Given the description of an element on the screen output the (x, y) to click on. 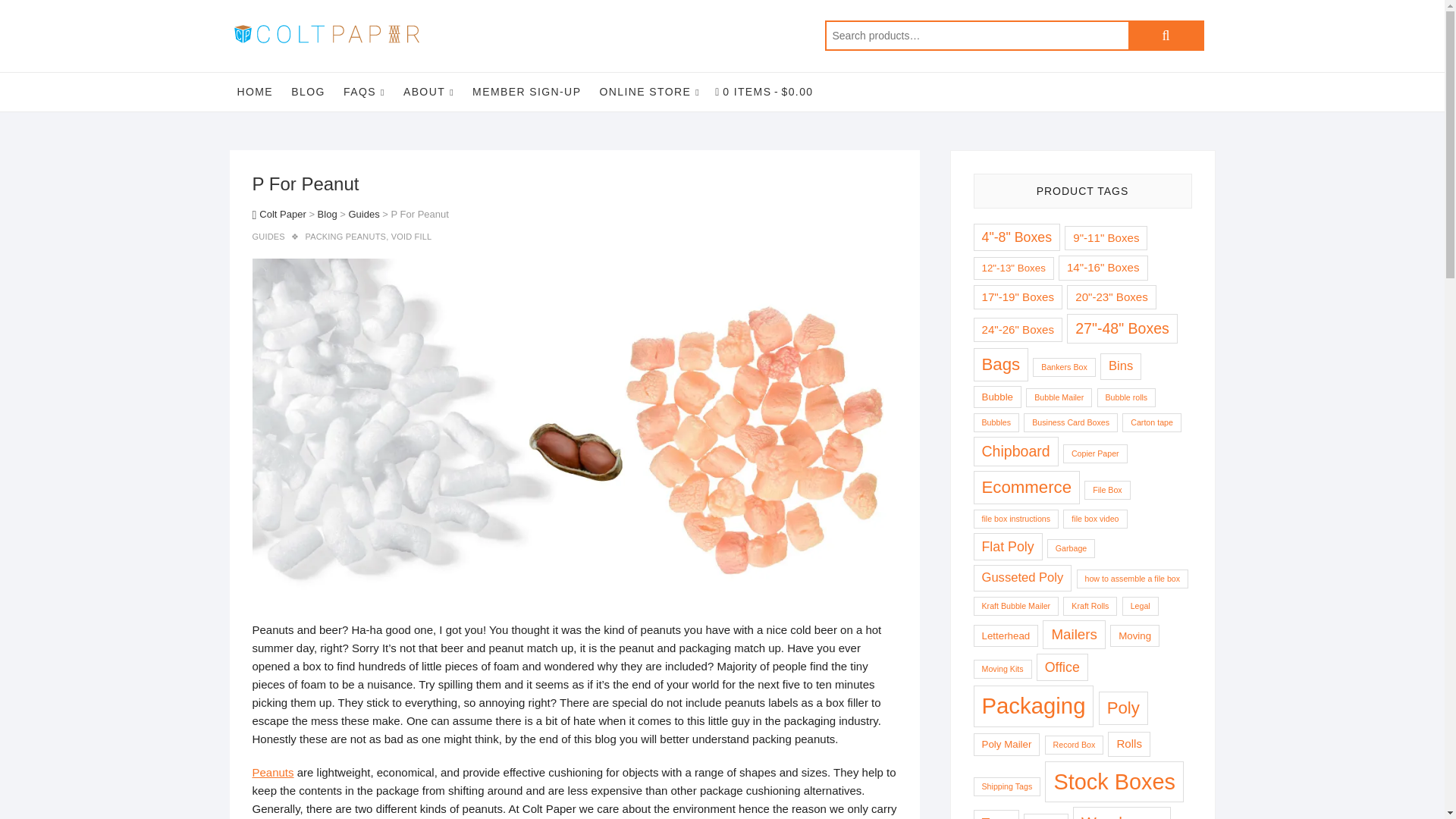
BLOG (308, 91)
HOME (254, 91)
ABOUT (428, 91)
FAQS (364, 91)
Go to Blog. (327, 214)
ONLINE STORE (649, 91)
Go to the Guides Category archives. (362, 214)
MEMBER SIGN-UP (526, 91)
Search (1166, 35)
Go to Colt Paper. (278, 214)
Start shopping (764, 91)
